Given the description of an element on the screen output the (x, y) to click on. 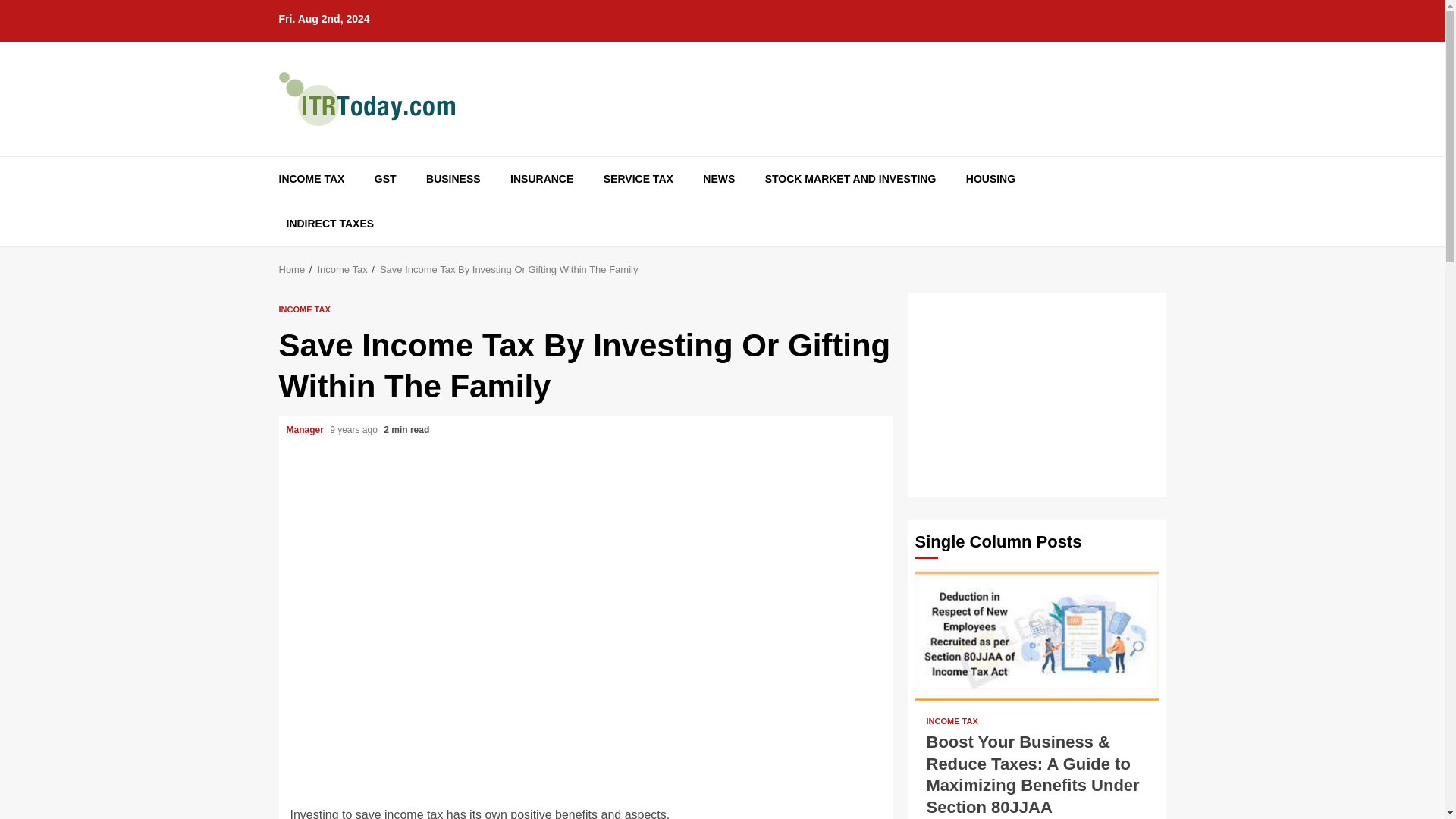
NEWS (719, 178)
GST (385, 178)
HOUSING (990, 178)
INDIRECT TAXES (330, 223)
Income Tax (341, 269)
Advertisement (1035, 394)
Save Income Tax By Investing Or Gifting Within The Family (509, 269)
SERVICE TAX (638, 178)
Manager (306, 429)
Search (1126, 226)
INSURANCE (542, 178)
STOCK MARKET AND INVESTING (850, 178)
Home (292, 269)
INCOME TAX (304, 308)
